Given the description of an element on the screen output the (x, y) to click on. 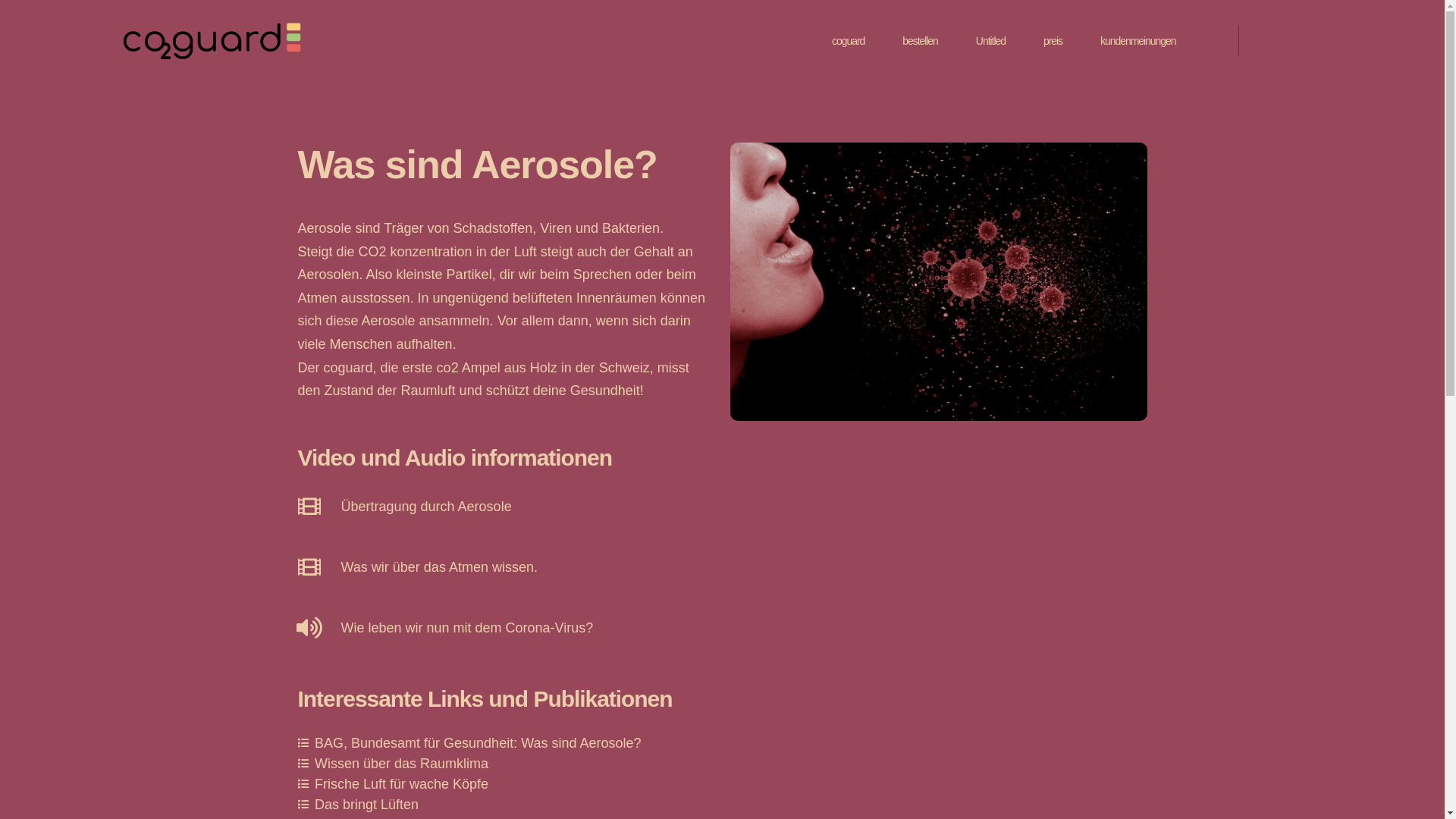
Wie leben wir nun mit dem Corona-Virus? Element type: text (467, 627)
preis Element type: text (1052, 40)
Untitled Element type: text (990, 40)
kundenmeinungen Element type: text (1137, 40)
coguard Element type: text (847, 40)
coguard Element type: text (348, 367)
bestellen Element type: text (920, 40)
